Given the description of an element on the screen output the (x, y) to click on. 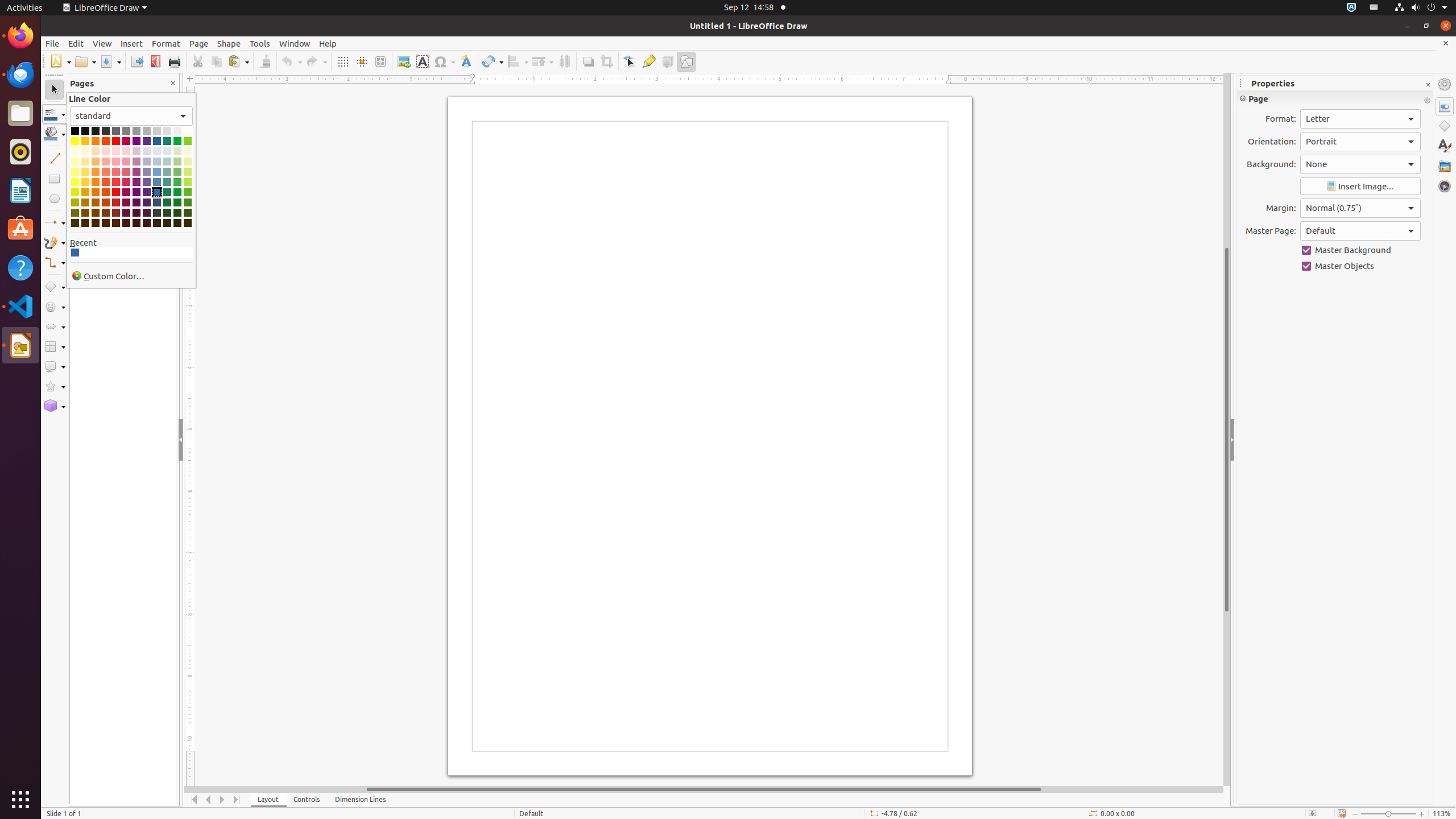
Light Red 1 Element type: list-item (115, 181)
Dark Yellow 1 Element type: list-item (74, 192)
Indigo Element type: list-item (146, 140)
Master Objects Element type: check-box (1360, 265)
Move To End Element type: push-button (236, 799)
